Given the description of an element on the screen output the (x, y) to click on. 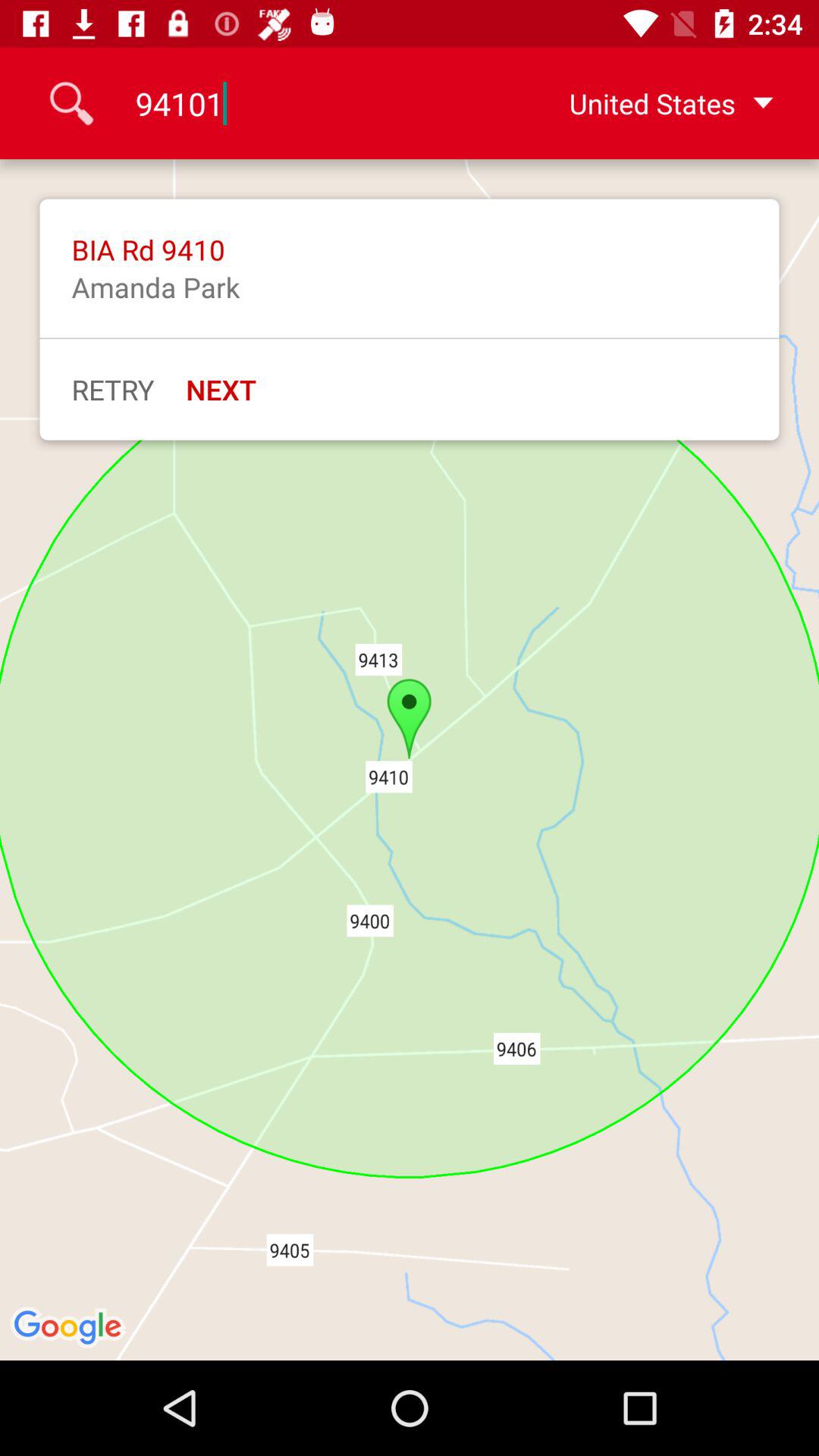
choose the retry icon (112, 389)
